Given the description of an element on the screen output the (x, y) to click on. 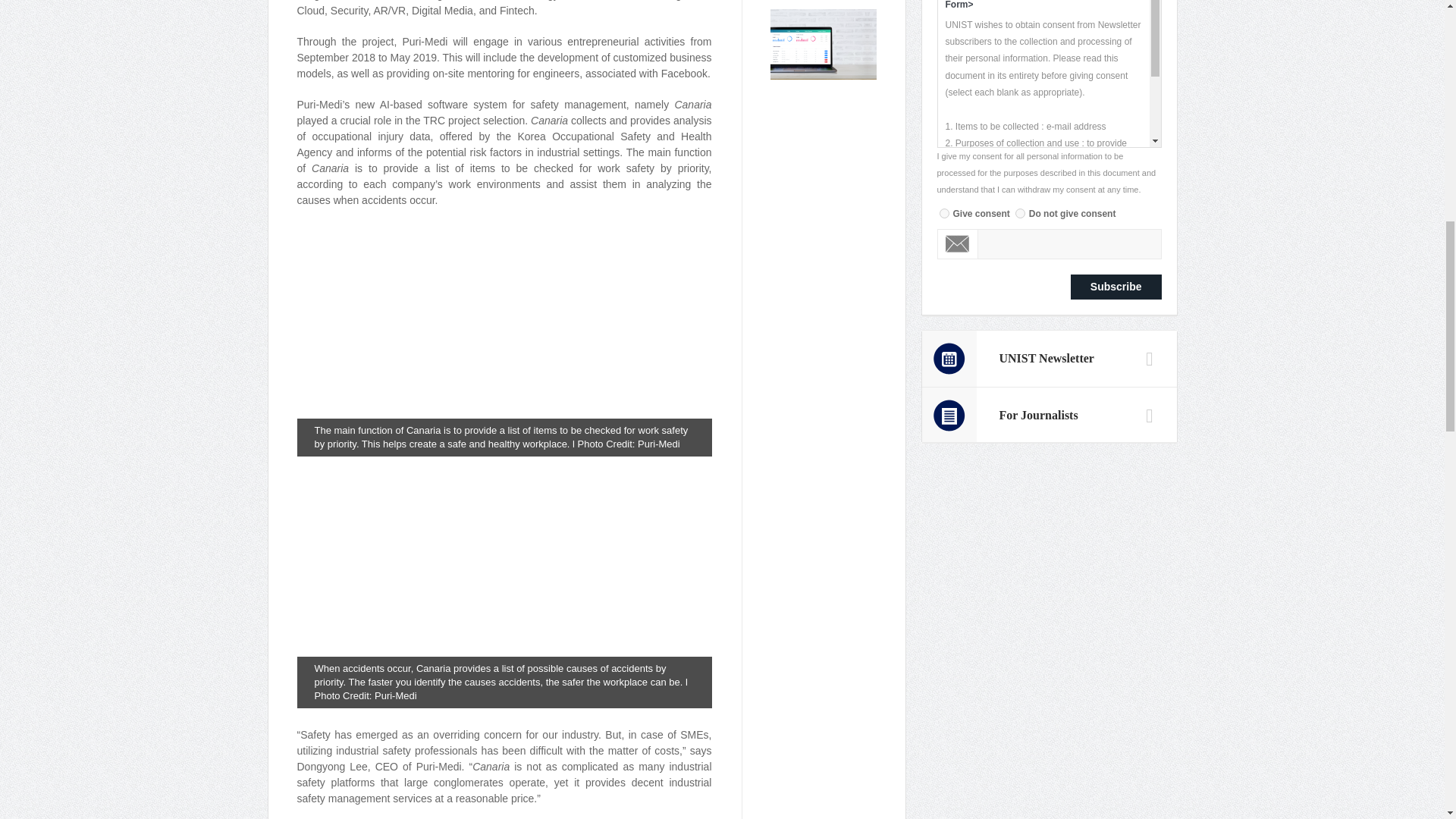
Subscribe (1115, 286)
agree (944, 213)
